Given the description of an element on the screen output the (x, y) to click on. 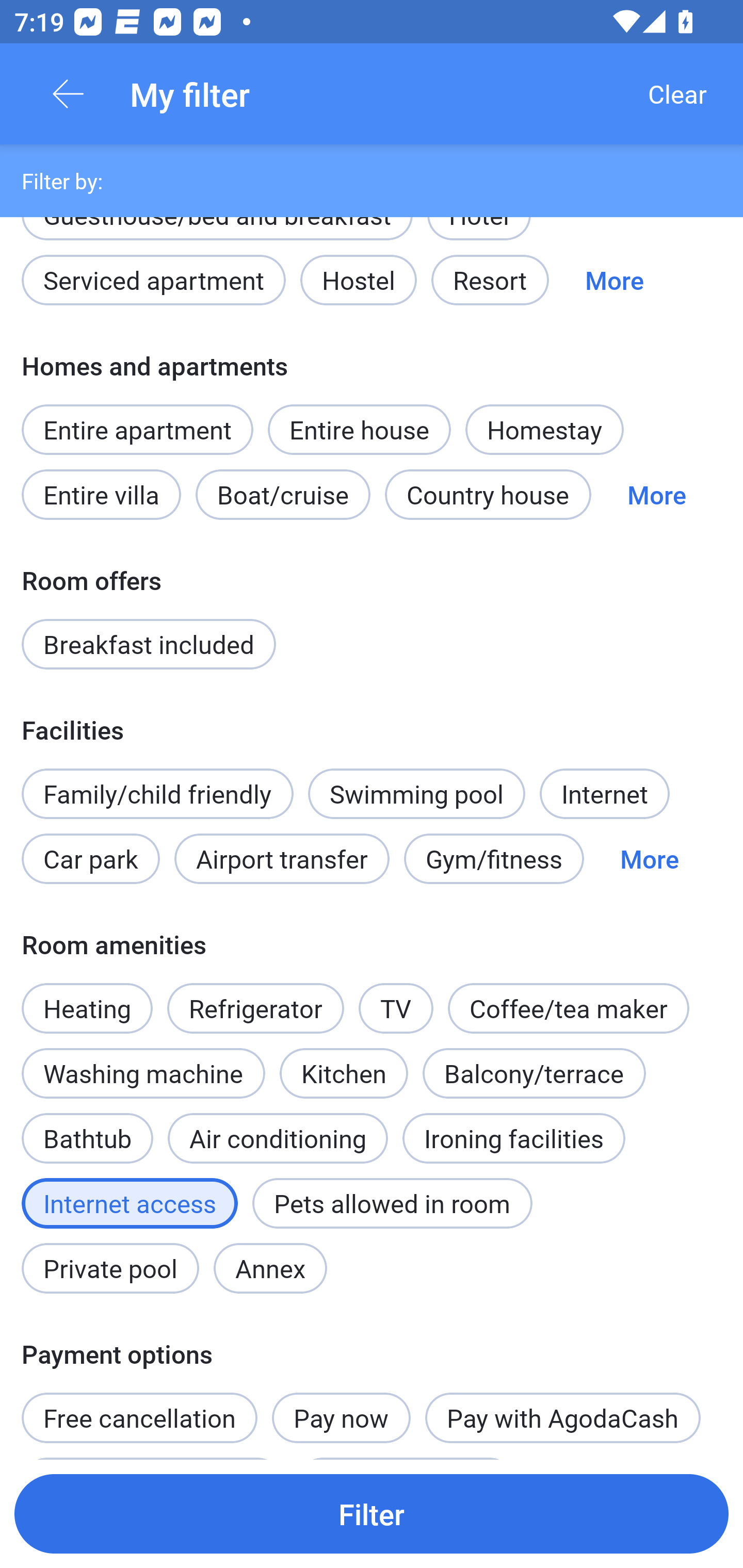
Clear (676, 93)
Serviced apartment (153, 279)
Hostel (358, 279)
Resort (490, 279)
More (614, 279)
Entire apartment (137, 429)
Entire house (359, 429)
Homestay (544, 429)
Entire villa (101, 494)
Boat/cruise (282, 494)
Country house (487, 494)
More (656, 494)
Breakfast included (148, 643)
Family/child friendly (157, 794)
Swimming pool (416, 794)
Internet (604, 794)
Car park (90, 858)
Airport transfer (281, 858)
Gym/fitness (493, 858)
More (649, 858)
Heating (87, 997)
Refrigerator (255, 1008)
TV (395, 1008)
Coffee/tea maker (568, 1008)
Washing machine (143, 1073)
Kitchen (343, 1073)
Balcony/terrace (533, 1073)
Bathtub (87, 1127)
Air conditioning (277, 1138)
Ironing facilities (513, 1138)
Pets allowed in room (392, 1203)
Private pool (110, 1268)
Annex (269, 1268)
Free cancellation (139, 1407)
Pay now (340, 1417)
Pay with AgodaCash (562, 1417)
Filter (371, 1513)
